Given the description of an element on the screen output the (x, y) to click on. 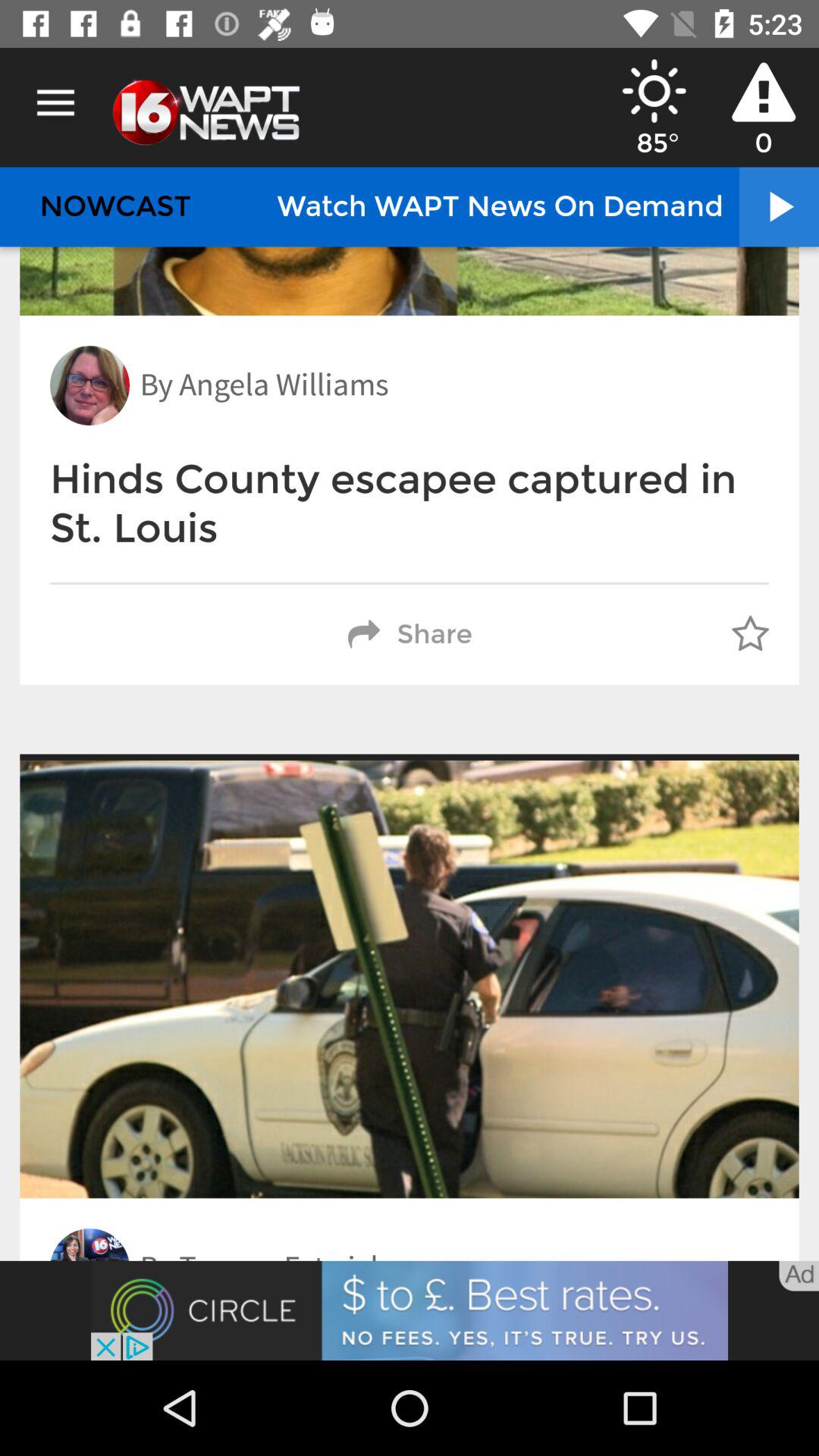
add the picture (409, 1310)
